Given the description of an element on the screen output the (x, y) to click on. 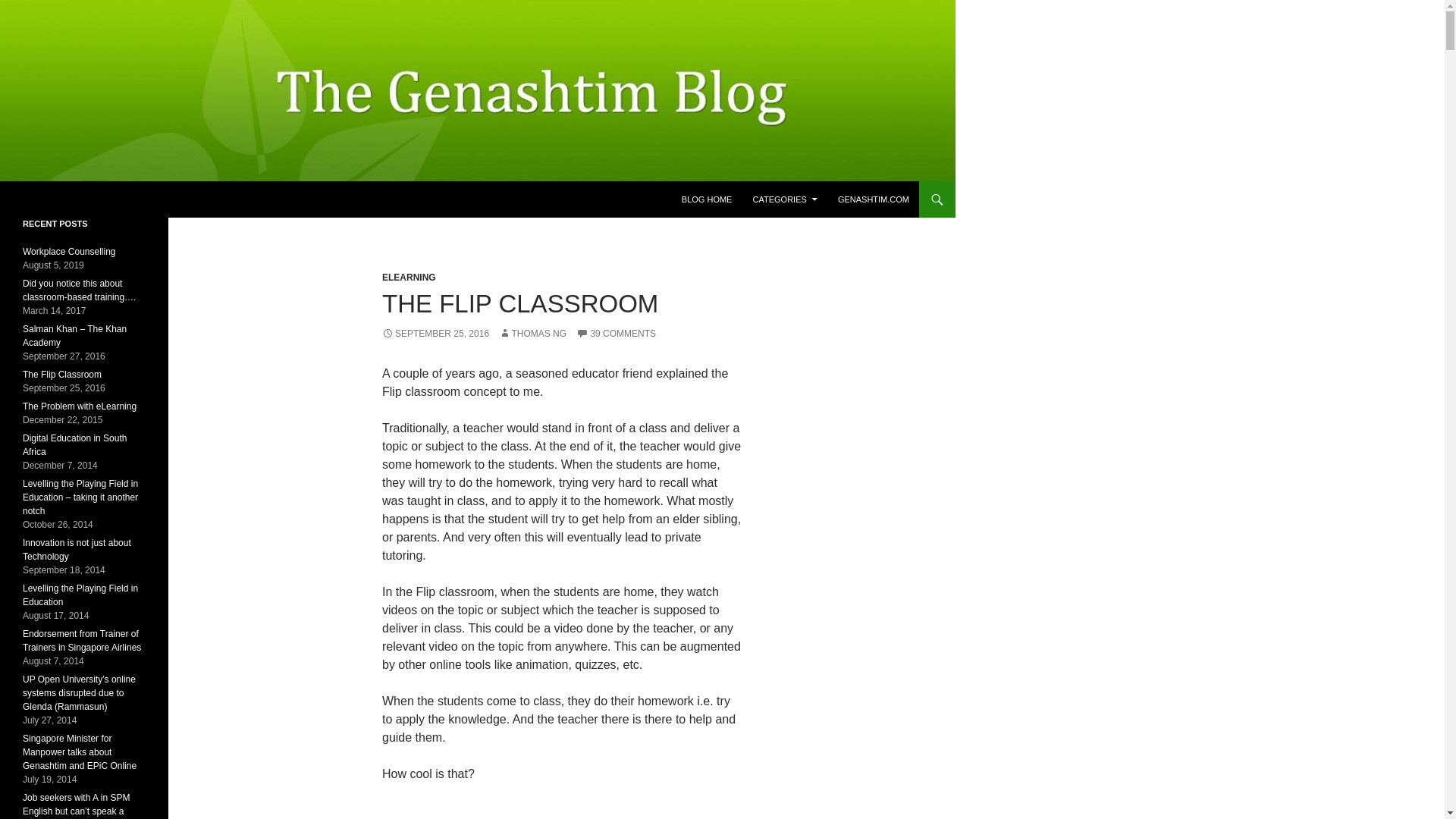
SEPTEMBER 25, 2016 (435, 333)
BLOG HOME (706, 198)
THOMAS NG (532, 333)
CATEGORIES (783, 198)
The Genashtim Blog (89, 198)
GENASHTIM.COM (873, 198)
39 COMMENTS (616, 333)
ELEARNING (408, 276)
